Given the description of an element on the screen output the (x, y) to click on. 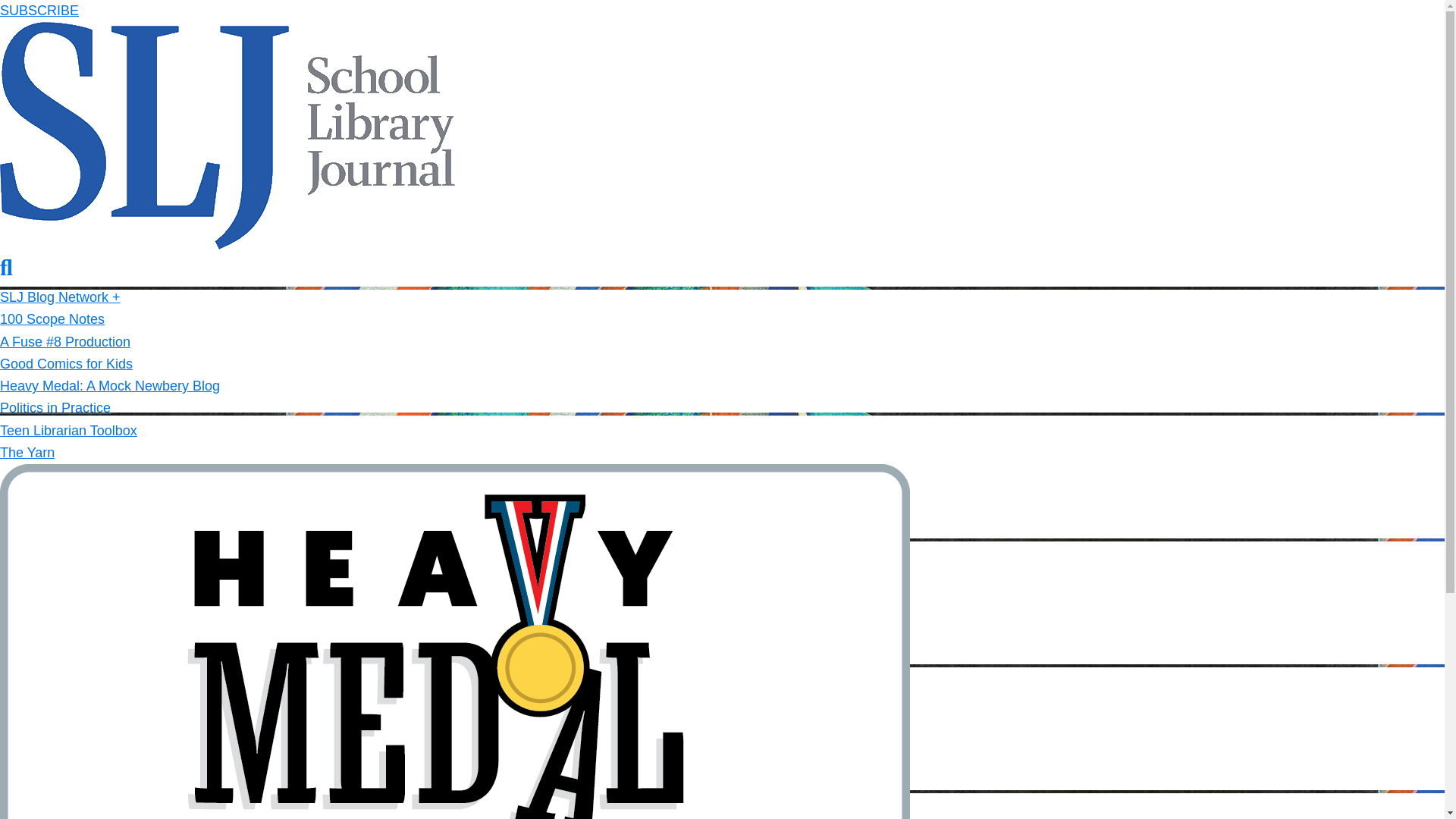
SUBSCRIBE (39, 10)
The Yarn (27, 452)
Good Comics for Kids (66, 363)
Politics in Practice (55, 407)
100 Scope Notes (52, 319)
Heavy Medal: A Mock Newbery Blog (109, 385)
Teen Librarian Toolbox (68, 430)
